Given the description of an element on the screen output the (x, y) to click on. 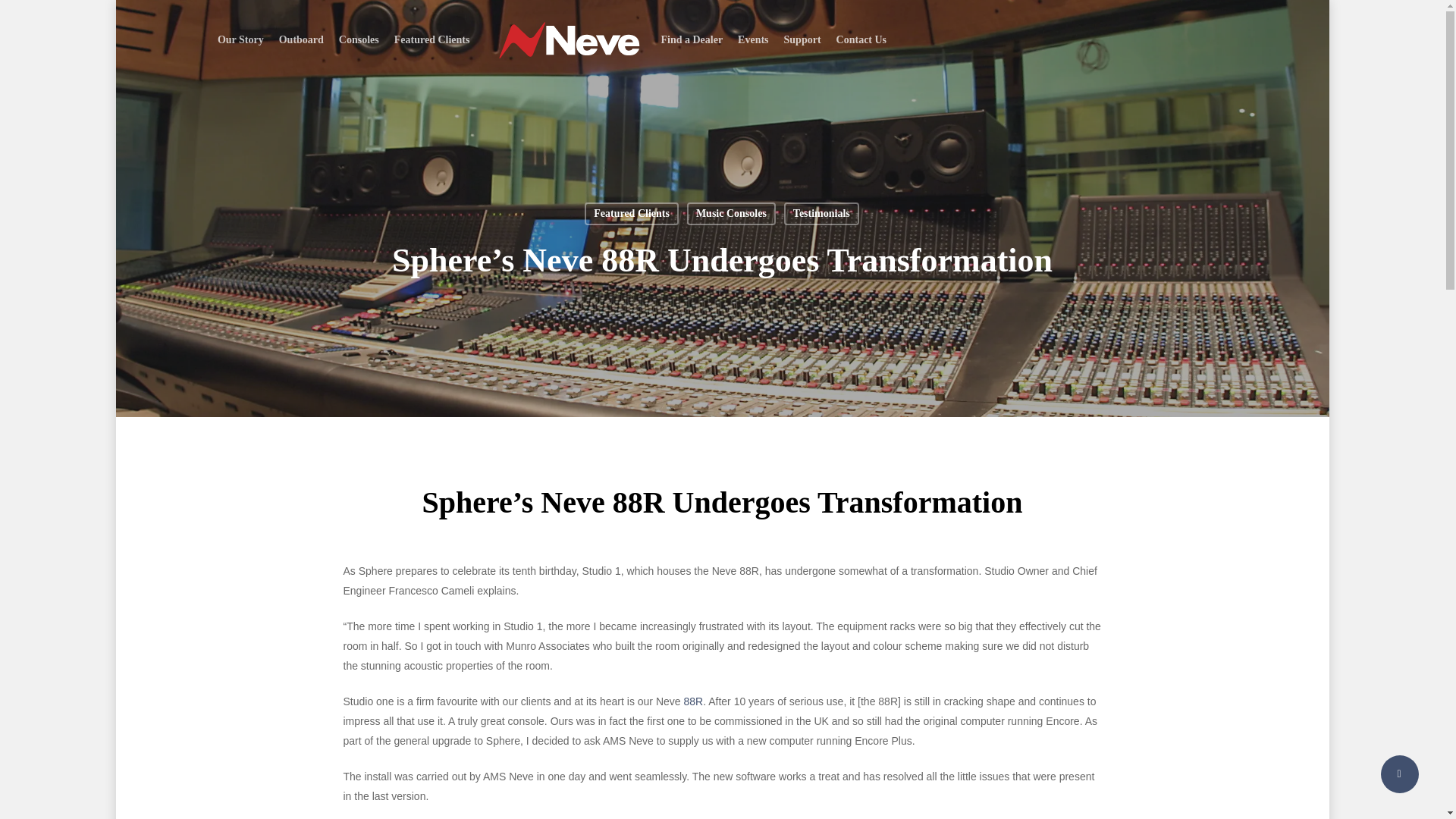
Consoles (358, 39)
Support (802, 39)
Our Story (239, 39)
Events (753, 39)
Find a Dealer (691, 39)
Outboard (301, 39)
Featured Clients (432, 39)
